Given the description of an element on the screen output the (x, y) to click on. 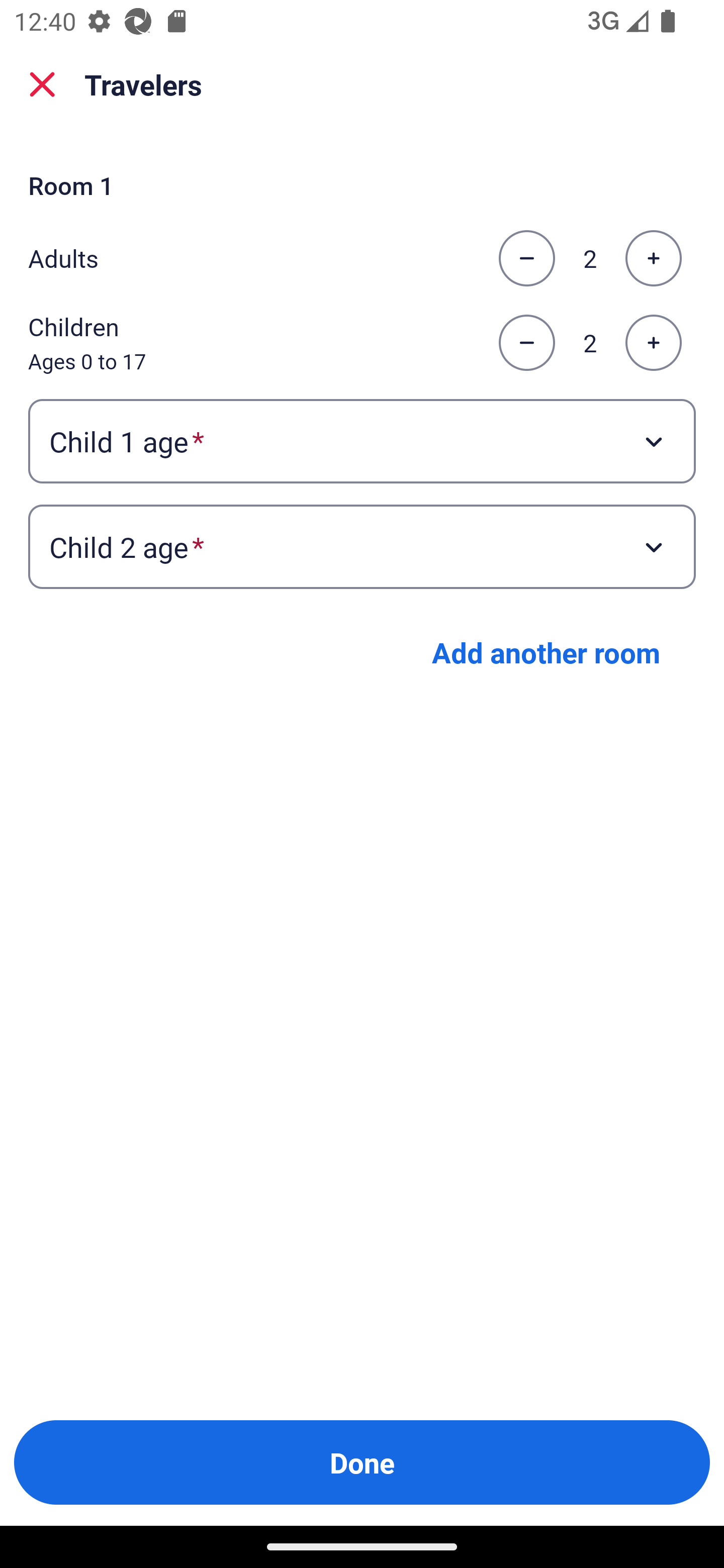
close (42, 84)
Decrease the number of adults (526, 258)
Increase the number of adults (653, 258)
Decrease the number of children (526, 343)
Increase the number of children (653, 343)
Child 1 age required Button (361, 440)
Child 2 age required Button (361, 546)
Add another room (545, 651)
Done (361, 1462)
